Given the description of an element on the screen output the (x, y) to click on. 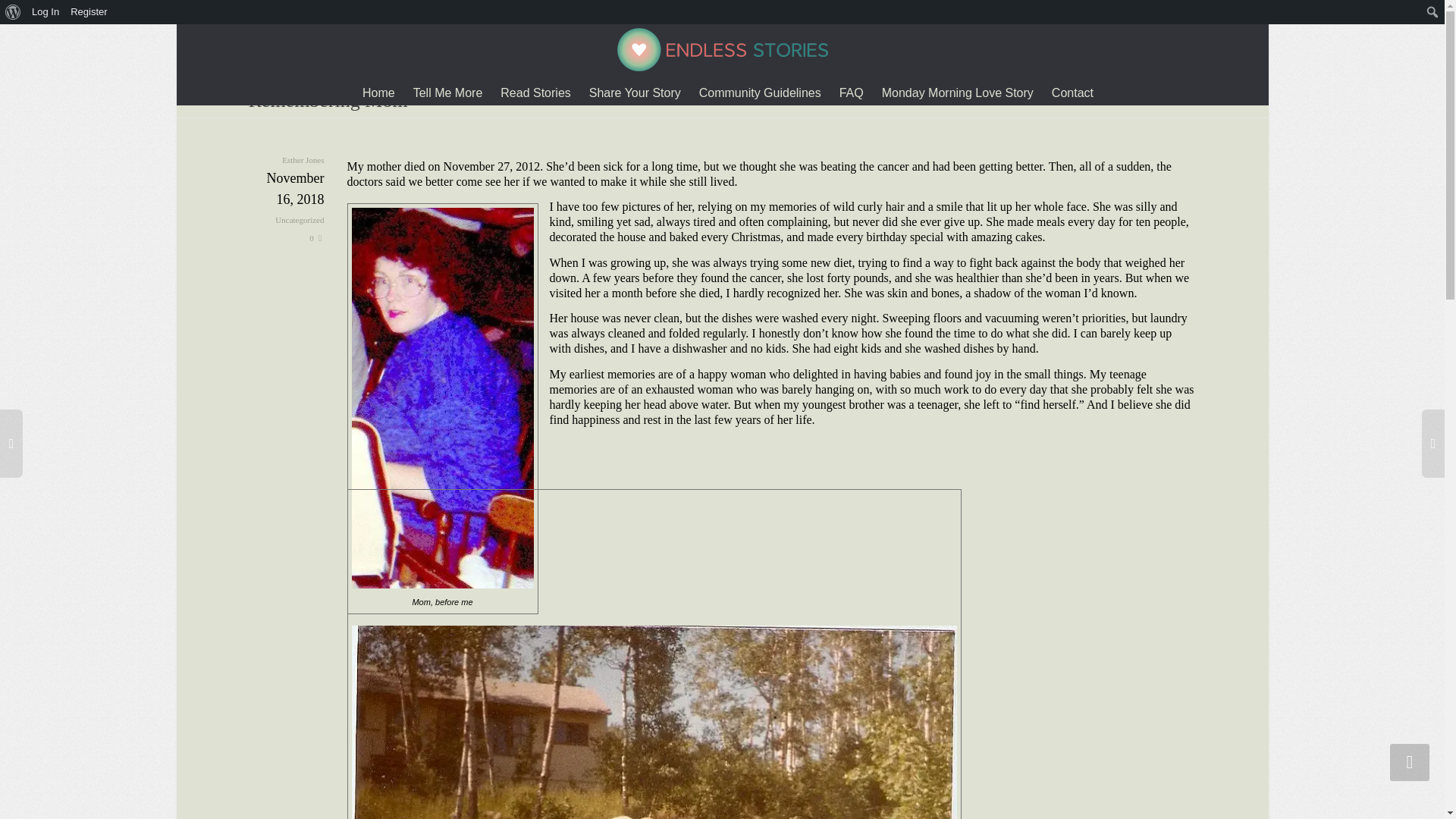
Log In (45, 12)
November 16, 2018 (286, 200)
FAQ (851, 92)
Home (378, 92)
Read Stories (535, 92)
Community Guidelines (759, 92)
Tell Me More (448, 92)
Read Stories (535, 92)
0 (315, 237)
Monday Morning Love Story (957, 92)
Contact (1072, 92)
Community Guidelines (759, 92)
Esther Jones (302, 159)
Share Your Story (635, 92)
Endless Stories (722, 49)
